Given the description of an element on the screen output the (x, y) to click on. 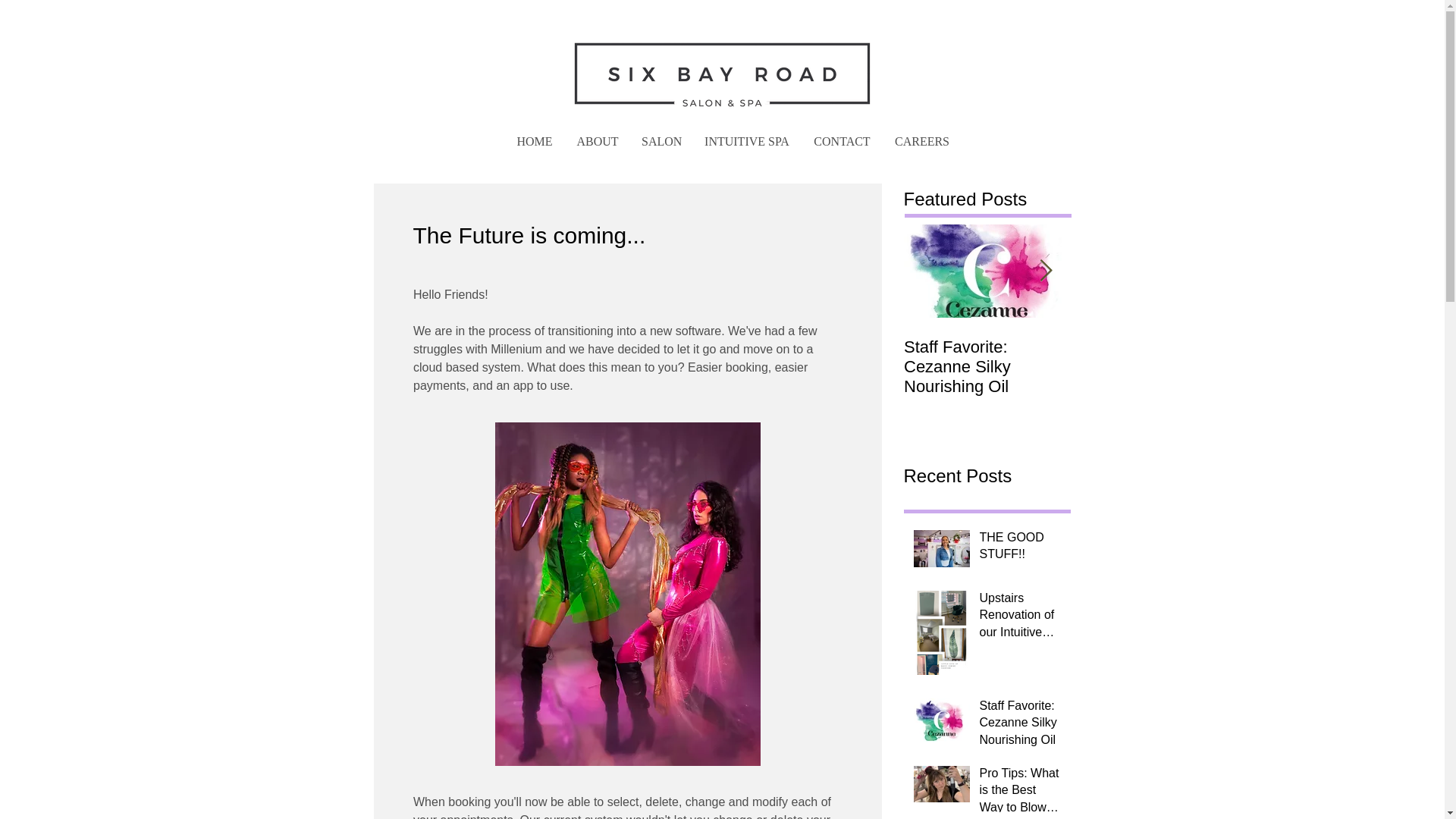
Staff Favorite: Cezanne Silky Nourishing Oil (1020, 725)
ABOUT (597, 141)
Staff Favorite: Cezanne Silky Nourishing Oil (987, 366)
Upstairs Renovation of our Intuitive Spa (1020, 618)
CONTACT (841, 141)
SALON (661, 141)
Pro Tips: What is the Best Way to Blow Dry My Hair? (1020, 791)
INTUITIVE SPA (746, 141)
Pro Tips: What is the Best Way to Blow Dry My Hair? (1153, 366)
THE GOOD STUFF!! (1020, 549)
